Given the description of an element on the screen output the (x, y) to click on. 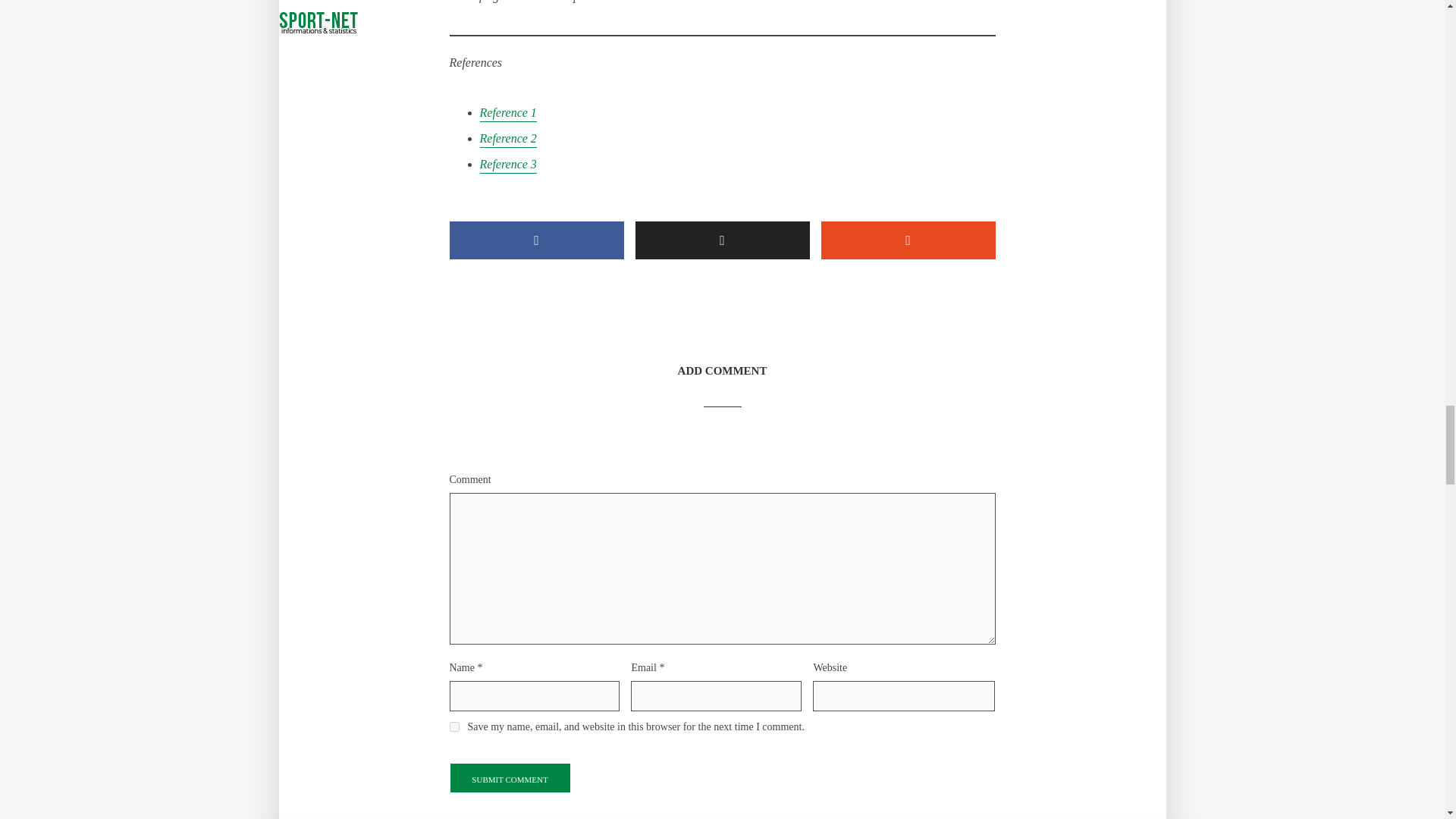
yes (453, 726)
Submit Comment (509, 777)
Reference 2 (507, 139)
Reference 1 (507, 114)
Reference 3 (507, 165)
Submit Comment (509, 777)
